Given the description of an element on the screen output the (x, y) to click on. 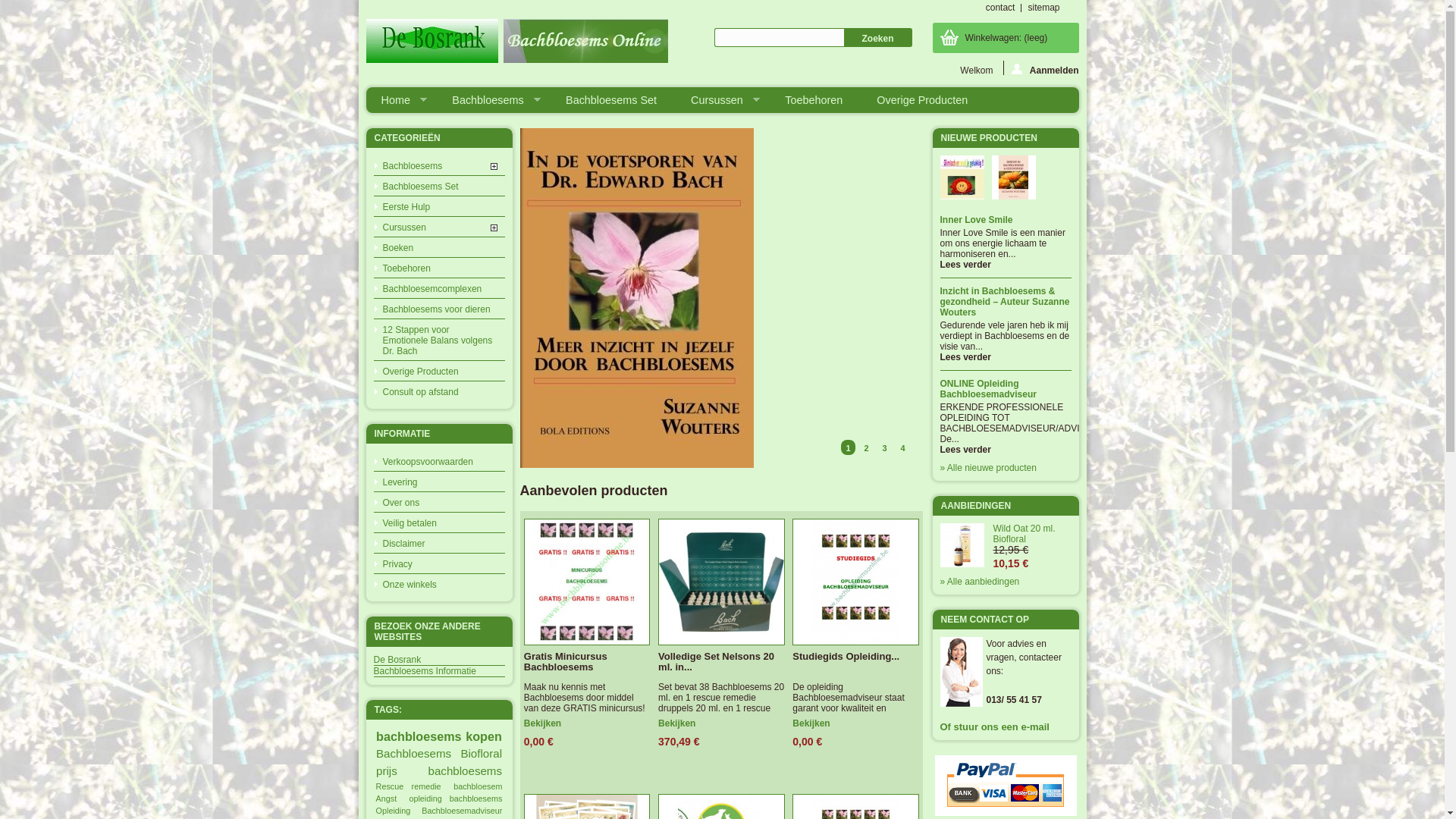
Verkoopsvoorwaarden Element type: text (438, 460)
Wild Oat 20 ml. Biofloral Element type: hover (962, 545)
12 Stappen voor Emotionele Balans volgens Dr. Bach Element type: text (438, 339)
Overige Producten Element type: text (922, 99)
Toebehoren Element type: text (438, 267)
opleiding bachbloesems Element type: text (455, 798)
Bachbloesemcomplexen Element type: text (438, 288)
3 Element type: text (883, 447)
prijs bachbloesems Element type: text (438, 770)
Lees verder Element type: text (1005, 356)
Biofloral Element type: text (480, 753)
1 Element type: text (847, 447)
Volledige Set Nelsons 20 ml. in kartonnen doos Element type: hover (721, 581)
Bachbloesems Set Element type: text (438, 185)
Zoeken Element type: text (877, 37)
Toebehoren Element type: text (814, 99)
Opleiding Bachbloesemadviseur Element type: text (439, 810)
bachbloesems kopen Element type: text (438, 736)
Over ons Element type: text (438, 501)
Privacy Element type: text (438, 563)
INFORMATIE Element type: text (402, 433)
Betalen met PayPal Element type: hover (1005, 785)
Volledige Set Nelsons 20 ml. in... Element type: text (721, 661)
Cursussen Element type: text (438, 226)
Bekijken Element type: text (814, 723)
Eerste Hulp Element type: text (438, 206)
Bach Bloesems Online Element type: hover (516, 41)
Angst Element type: text (386, 798)
Boeken Element type: text (438, 247)
bachbloesems creature comforters Element type: hover (317, 351)
4 Element type: text (901, 447)
Winkelwagen: (leeg) Element type: text (1005, 37)
Of stuur ons een e-mail Element type: text (1005, 726)
Bekijken Element type: text (546, 723)
Bekijken Element type: text (680, 723)
Bachbloesems Element type: text (438, 165)
Wild Oat 20 ml. Biofloral Element type: text (1032, 533)
Bachbloesems Informatie Element type: text (438, 670)
Studiegids Opleiding Bachbloesemadviseur Element type: hover (855, 581)
Bachbloesems Set Element type: text (611, 99)
2 Element type: text (865, 447)
Gratis Minicursus Bachbloesems Element type: hover (587, 581)
Consult op afstand Element type: text (438, 391)
sitemap Element type: text (1043, 7)
Bachbloesems Element type: text (413, 753)
contact Element type: text (1000, 7)
Bachbloesems voor dieren Element type: text (438, 308)
Aanmelden Element type: text (1041, 67)
Veilig betalen Element type: text (438, 522)
Rescue remedie Element type: text (408, 786)
Levering Element type: text (438, 481)
Inner Love Smile Element type: text (1005, 220)
Lees verder Element type: text (1005, 449)
Overige Producten Element type: text (438, 370)
NIEUWE PRODUCTEN Element type: text (988, 137)
Disclaimer Element type: text (438, 542)
AANBIEDINGEN Element type: text (975, 505)
ONLINE Opleiding Bachbloesemadviseur Element type: text (1005, 389)
bachbloesem Element type: text (477, 786)
Onze winkels Element type: text (438, 583)
De Bosrank Element type: text (438, 659)
Gratis Minicursus Bachbloesems Element type: text (587, 661)
Studiegids Opleiding... Element type: text (855, 656)
Lees verder Element type: text (1005, 264)
Boek over bachbloesems en energiepunten Element type: hover (636, 464)
